Given the description of an element on the screen output the (x, y) to click on. 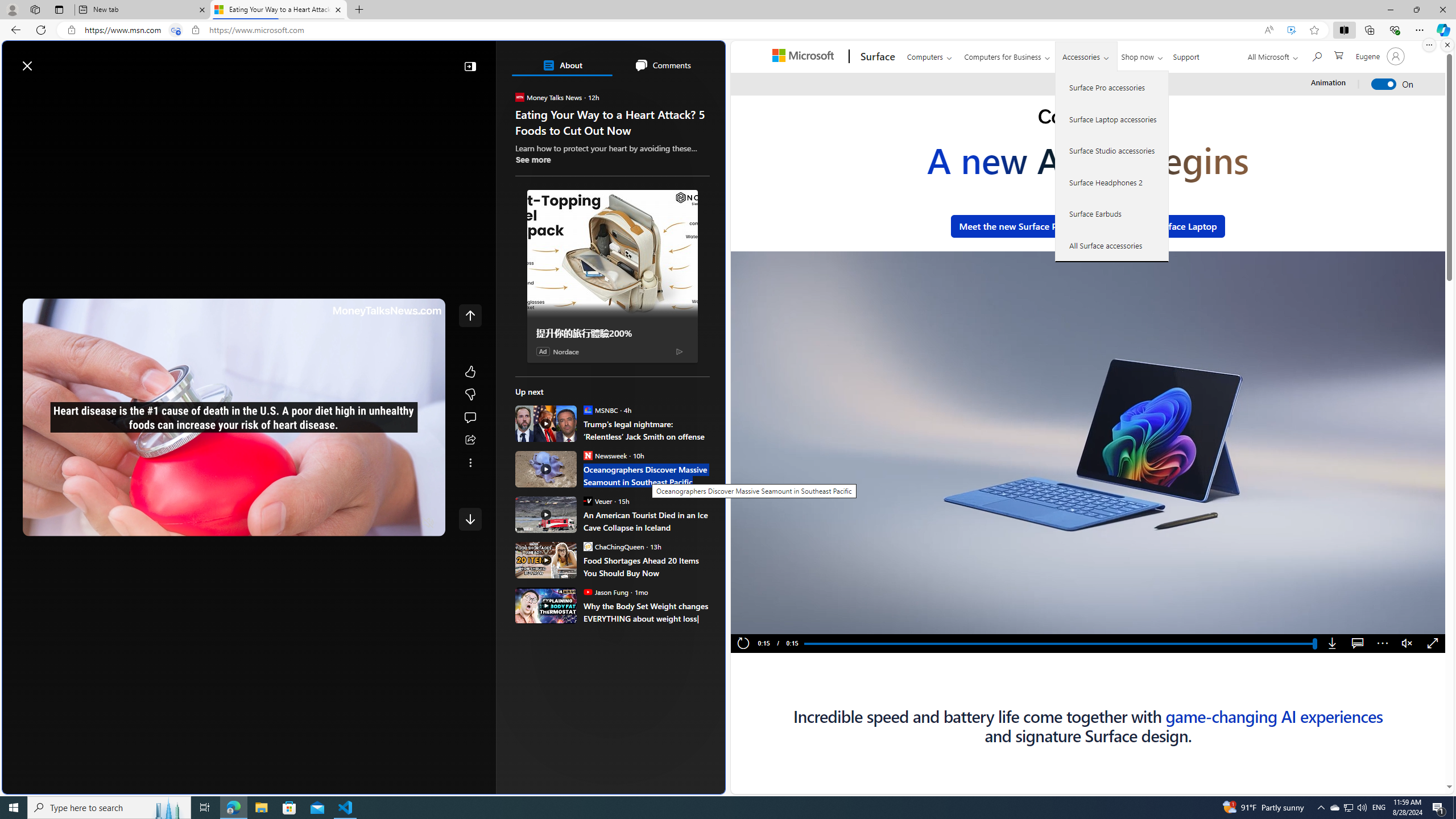
Tabs in split screen (175, 29)
Food Shortages Ahead 20 Items You Should Buy Now (545, 559)
ChaChingQueen (587, 546)
Meet the new Surface Laptop (1155, 225)
Unmute (1406, 643)
Veuer (587, 500)
